Given the description of an element on the screen output the (x, y) to click on. 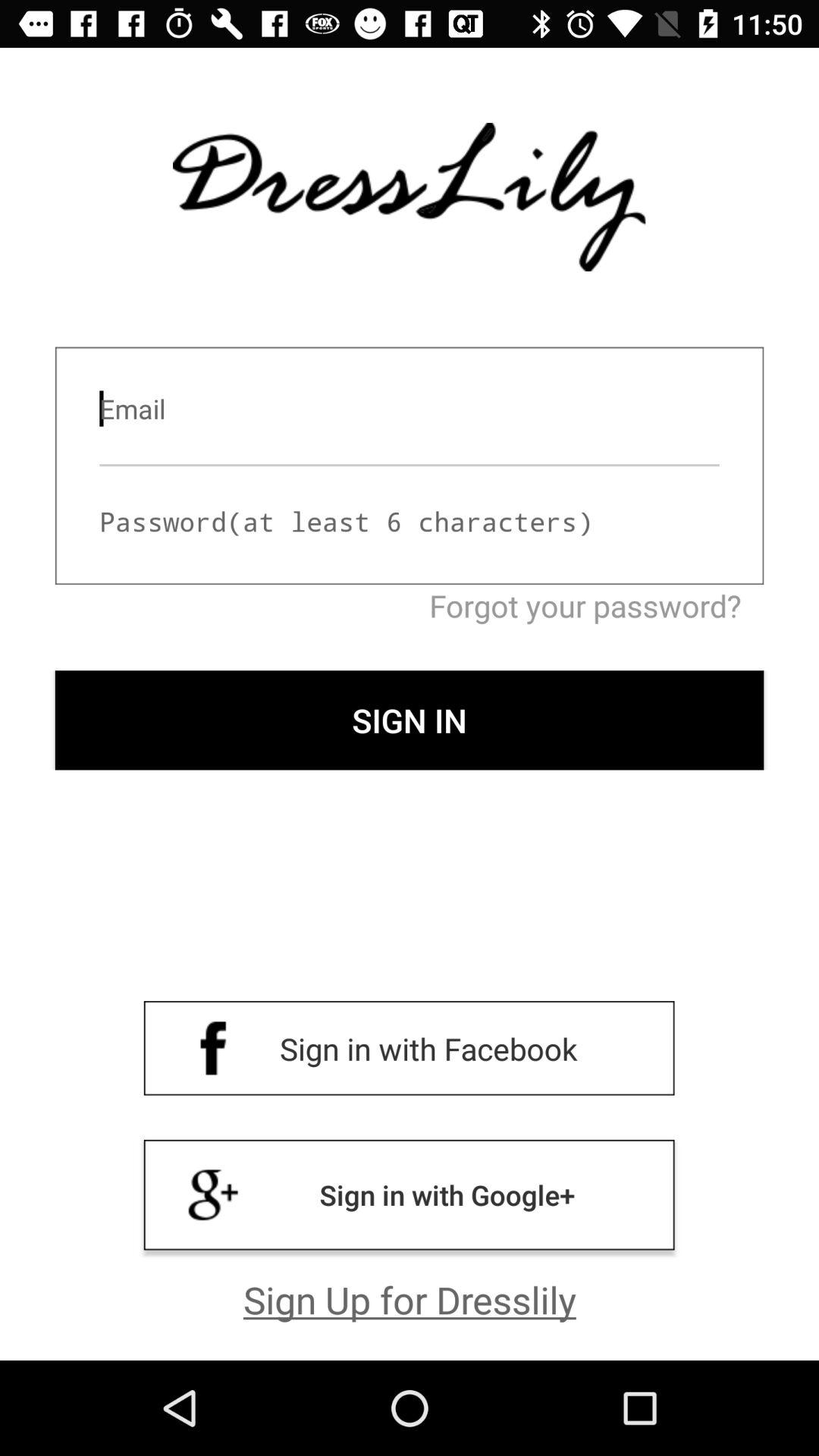
open the item below sign in with icon (409, 1299)
